Given the description of an element on the screen output the (x, y) to click on. 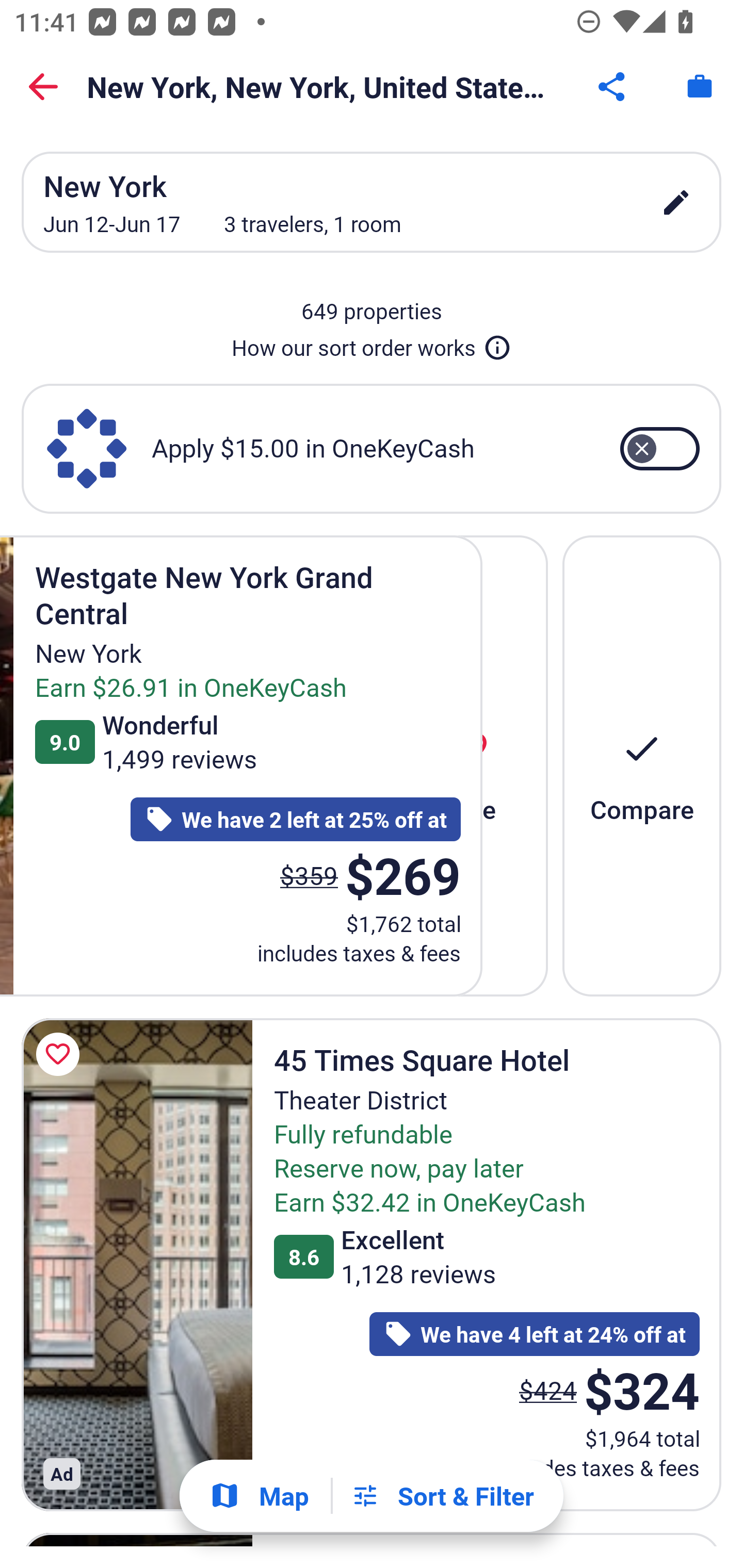
Back (43, 86)
Share Button (612, 86)
Trips. Button (699, 86)
New York Jun 12-Jun 17 3 travelers, 1 room edit (371, 202)
How our sort order works (371, 344)
Compare (641, 765)
$359 The price was $359 (308, 875)
Save 45 Times Square Hotel to a trip (61, 1054)
45 Times Square Hotel (136, 1264)
$424 The price was $424 (547, 1389)
Filters Sort & Filter Filters Button (442, 1495)
Show map Map Show map Button (258, 1495)
